Given the description of an element on the screen output the (x, y) to click on. 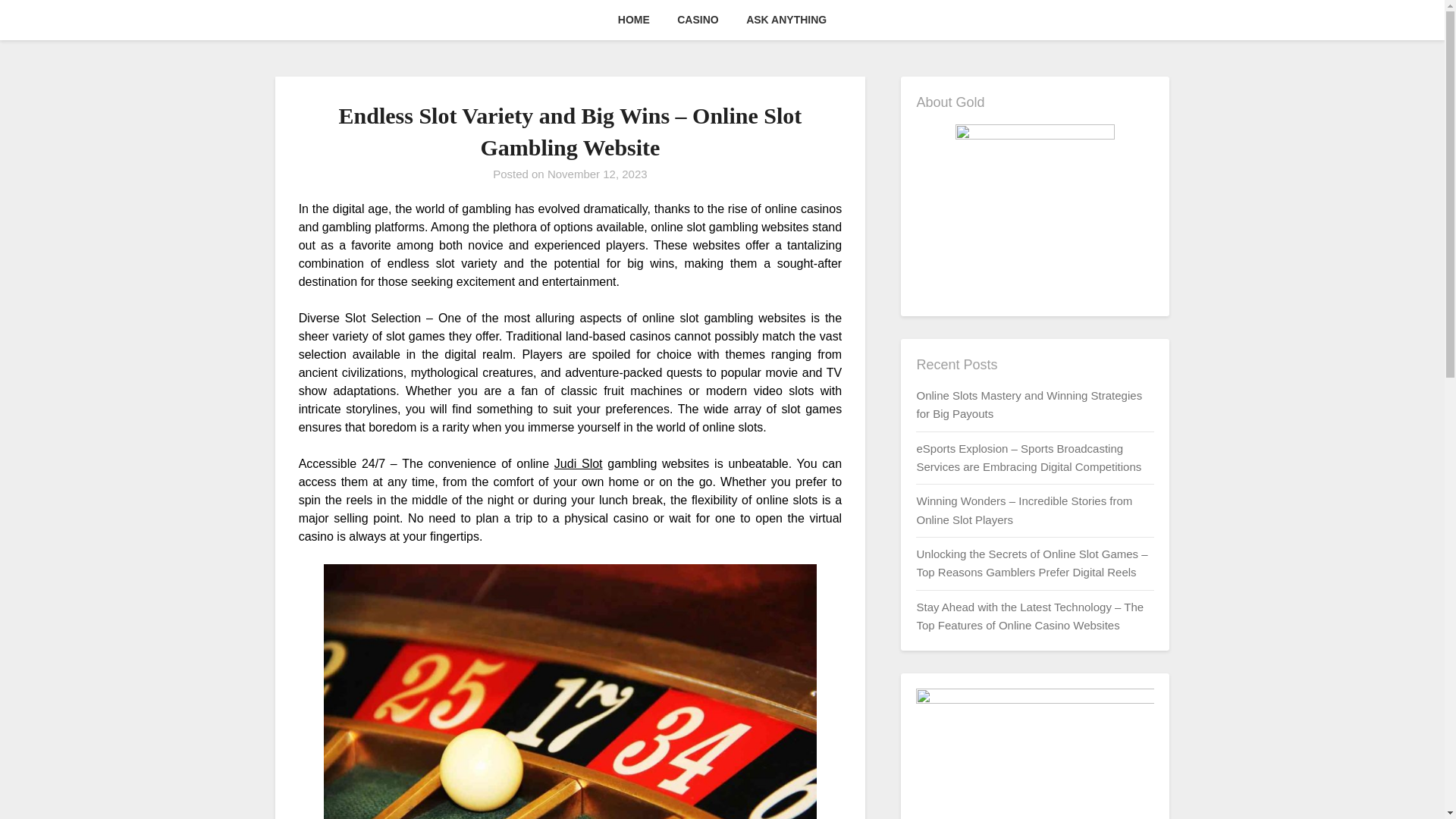
CASINO (697, 20)
Judi Slot (578, 463)
HOME (633, 20)
ASK ANYTHING (785, 20)
November 12, 2023 (597, 173)
Online Slots Mastery and Winning Strategies for Big Payouts (1028, 404)
